Given the description of an element on the screen output the (x, y) to click on. 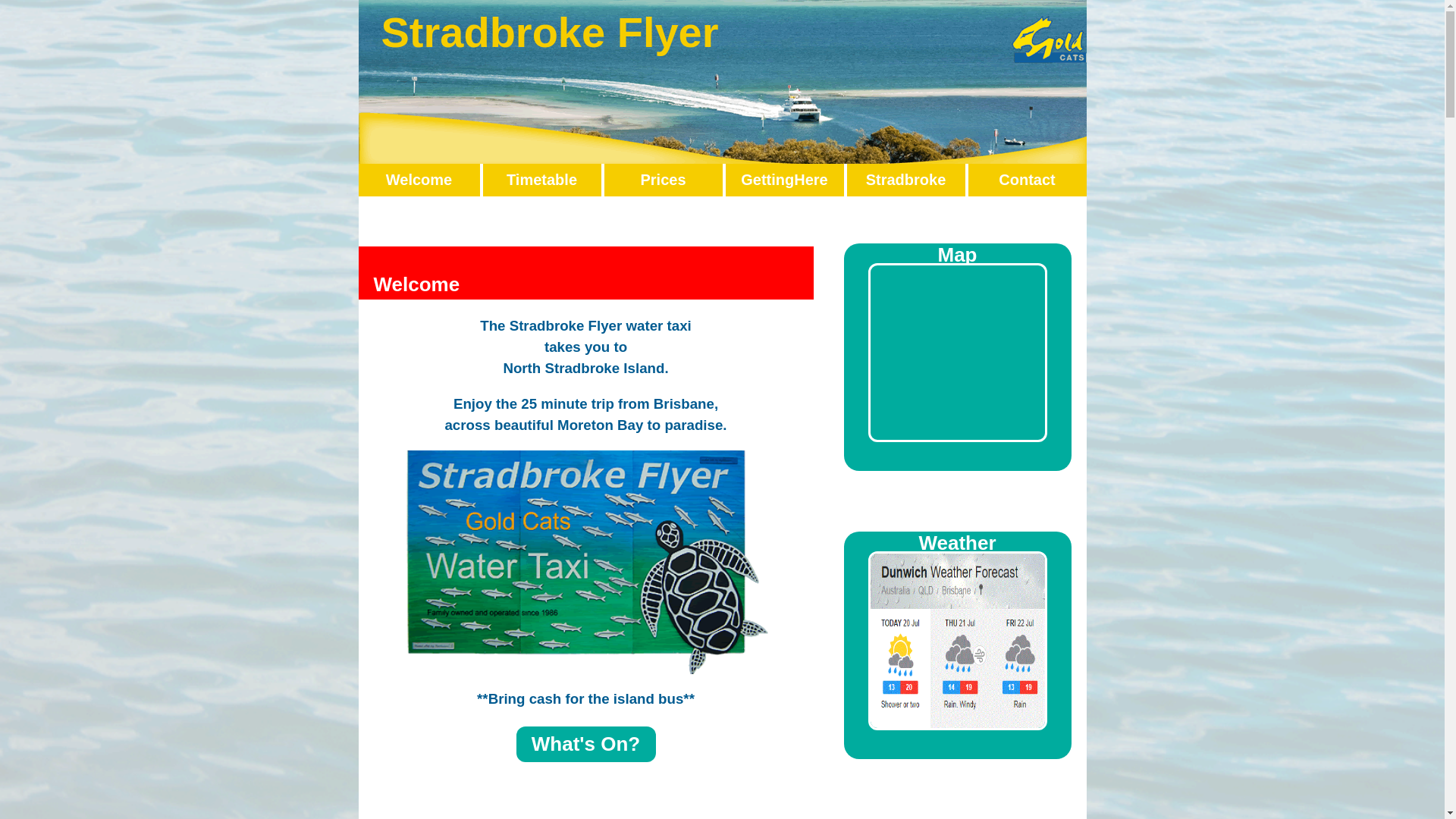
Stradbroke Element type: text (905, 179)
Contact Element type: text (1026, 179)
What's On? Element type: text (585, 744)
Prices Element type: text (662, 179)
Timetable Element type: text (541, 179)
GettingHere Element type: text (783, 179)
Welcome Element type: text (418, 179)
